Given the description of an element on the screen output the (x, y) to click on. 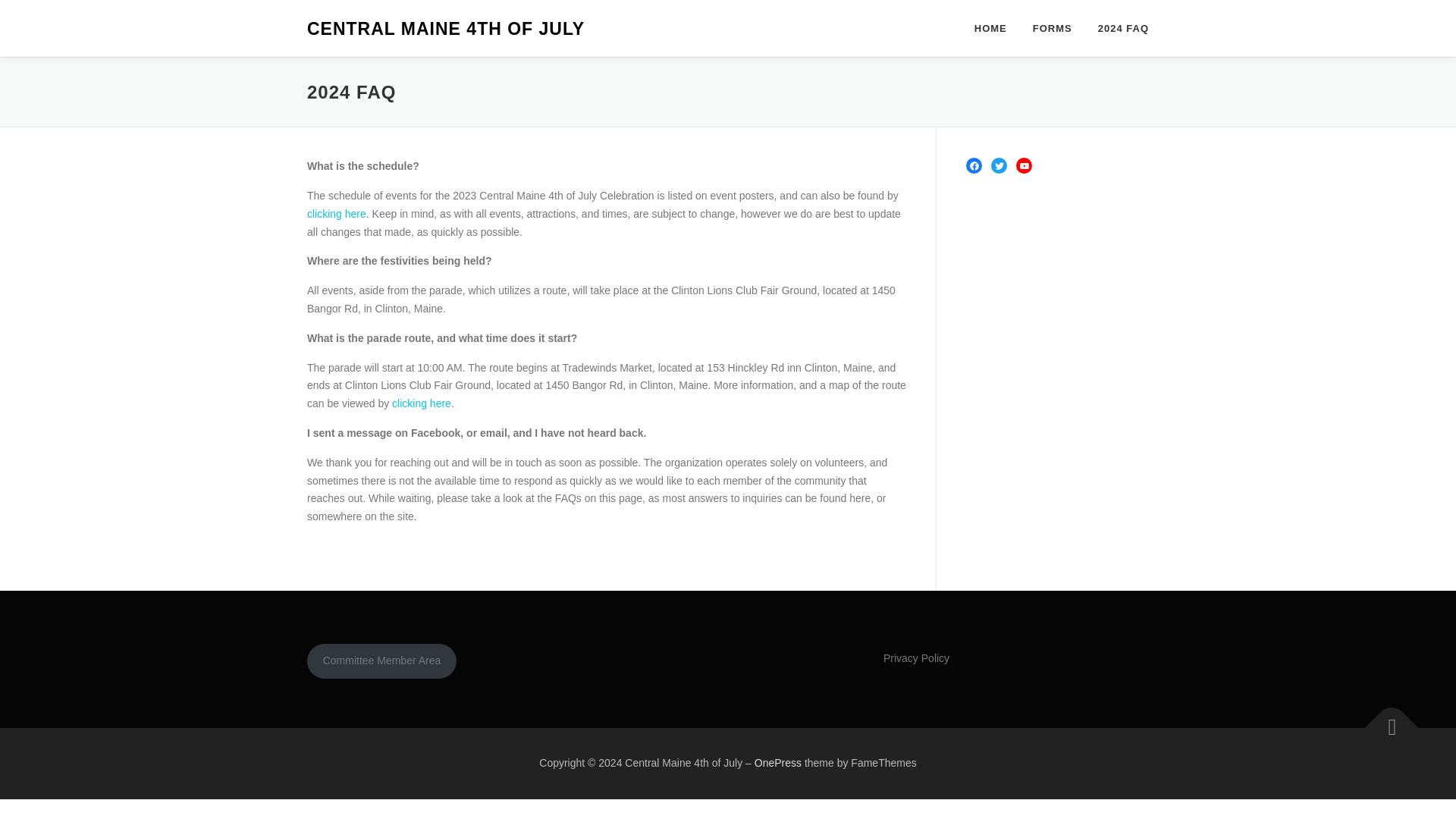
clicking here (421, 403)
Privacy Policy (916, 657)
Committee Member Area (382, 660)
2024 FAQ (1116, 28)
OnePress (778, 762)
clicking here (336, 214)
Facebook (973, 165)
Back To Top (1384, 720)
FORMS (1052, 28)
Twitter (999, 165)
